Given the description of an element on the screen output the (x, y) to click on. 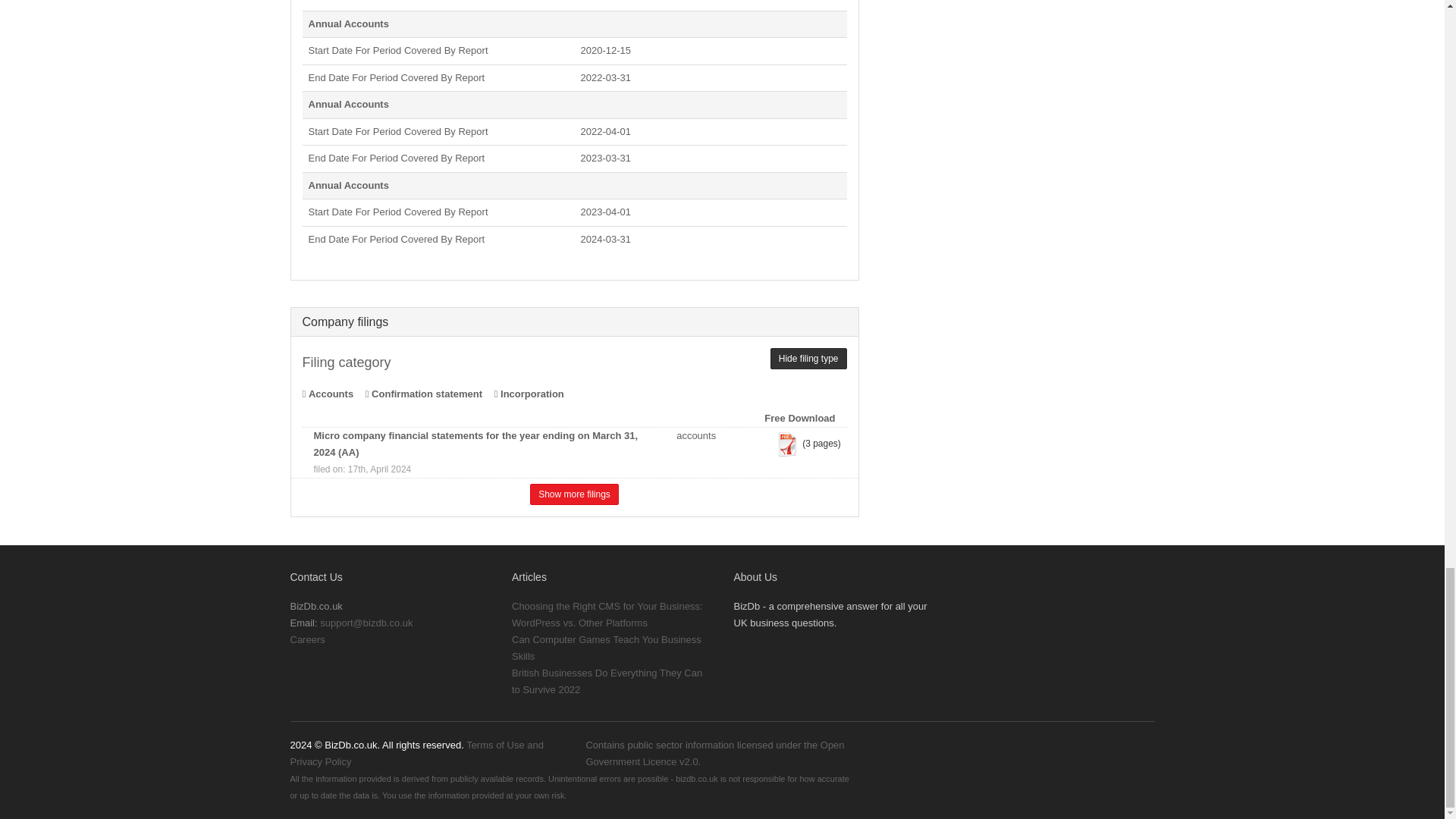
Download the filing (787, 444)
Careers (306, 639)
Terms of Use and Privacy Policy (416, 753)
Show more filings (573, 494)
Articles (529, 576)
British Businesses Do Everything They Can to Survive 2022 (606, 681)
Can Computer Games Teach You Business Skills (606, 647)
Open Government Licence v2.0. (714, 753)
